Given the description of an element on the screen output the (x, y) to click on. 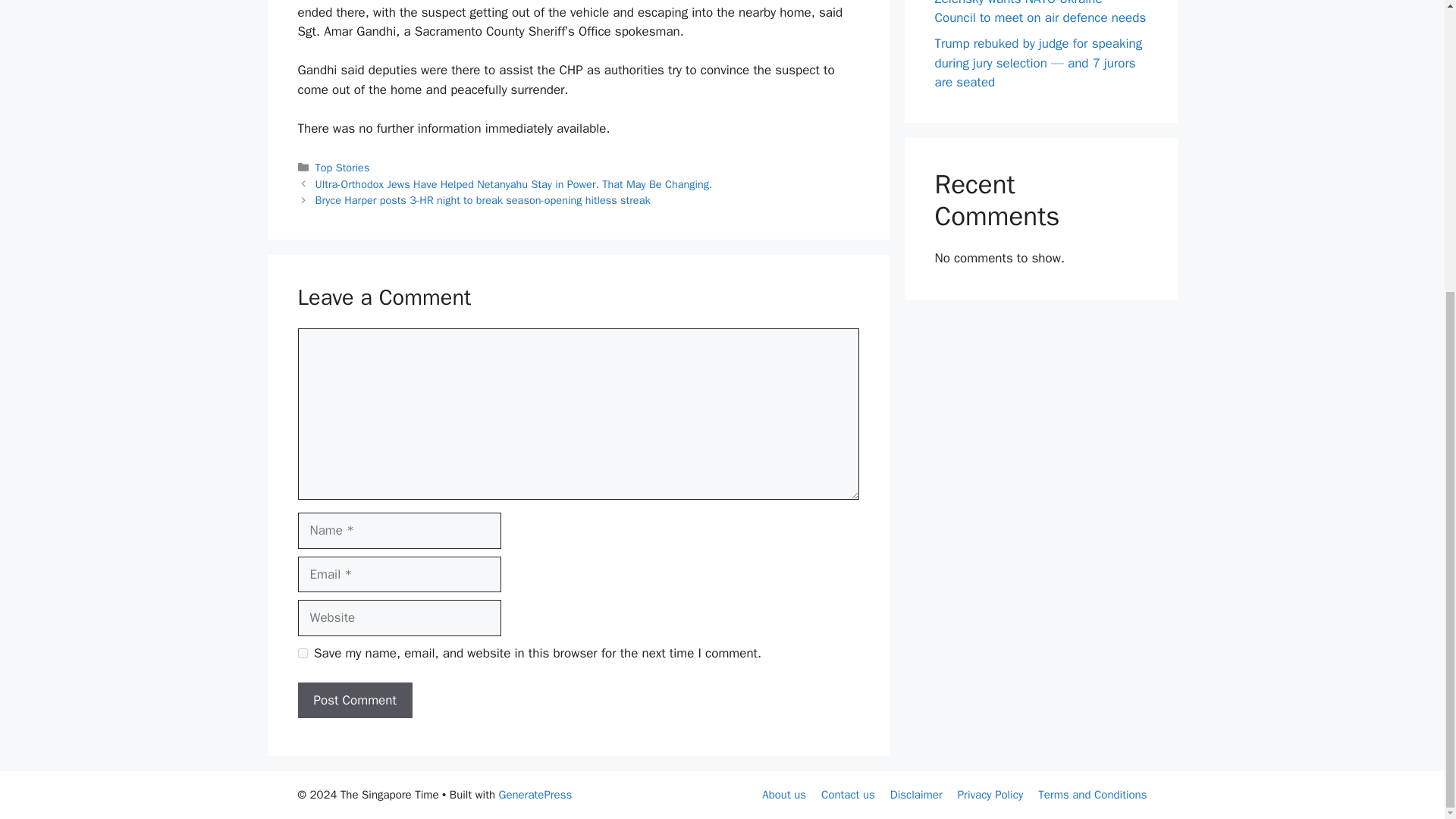
Post Comment (354, 700)
Disclaimer (915, 794)
About us (783, 794)
Terms and Conditions (1092, 794)
GeneratePress (535, 794)
Contact us (848, 794)
Post Comment (354, 700)
